Given the description of an element on the screen output the (x, y) to click on. 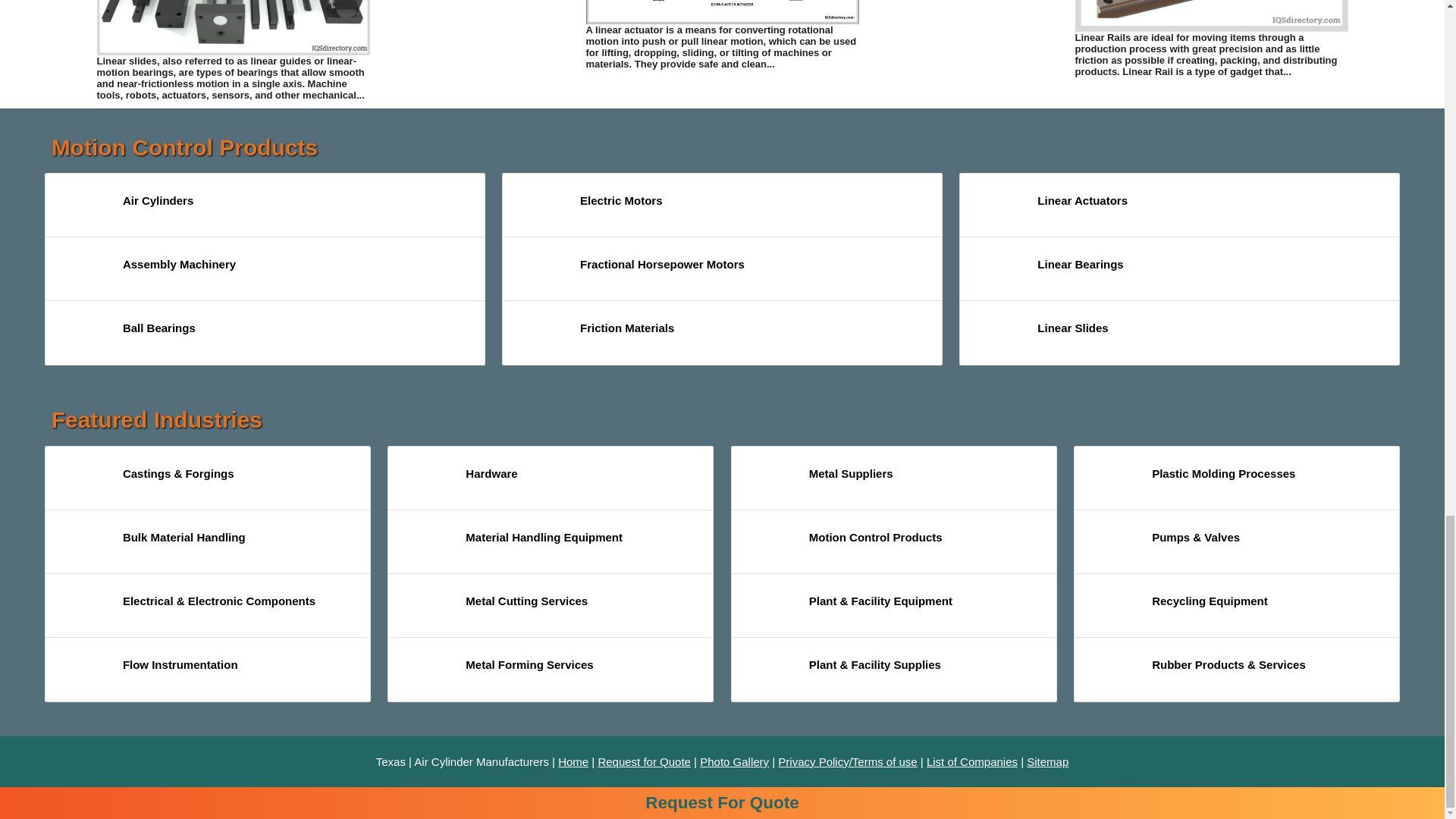
Ball Bearings Manufacturers (84, 335)
Fractional Horsepower Motors (541, 271)
Linear Actuators (722, 11)
Linear Motion Slides (233, 27)
Linear Rails (1211, 15)
